Given the description of an element on the screen output the (x, y) to click on. 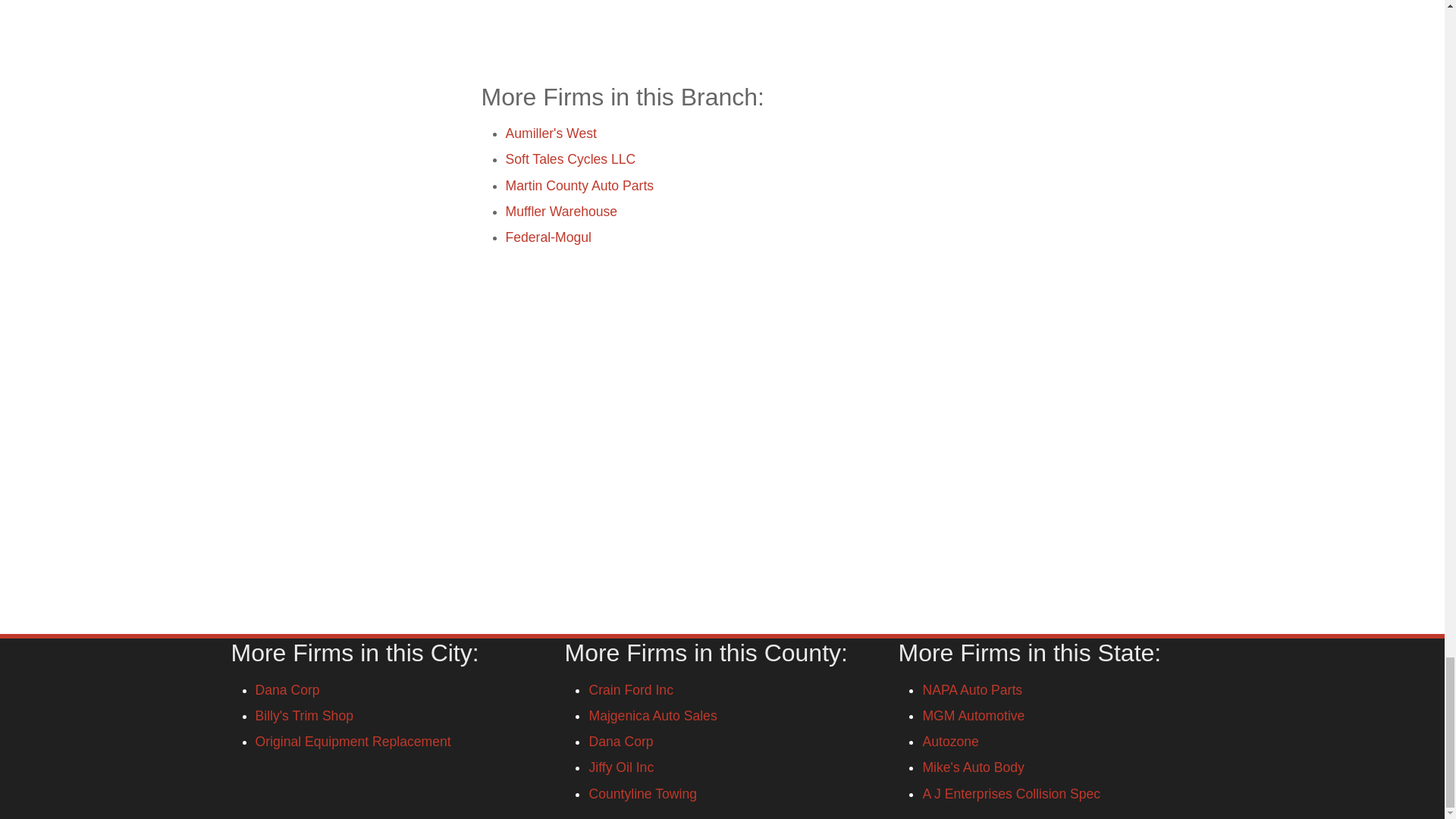
Muffler Warehouse (561, 211)
Aumiller's West (550, 133)
Martin County Auto Parts (579, 185)
Federal-Mogul (548, 237)
Soft Tales Cycles LLC (569, 159)
